Given the description of an element on the screen output the (x, y) to click on. 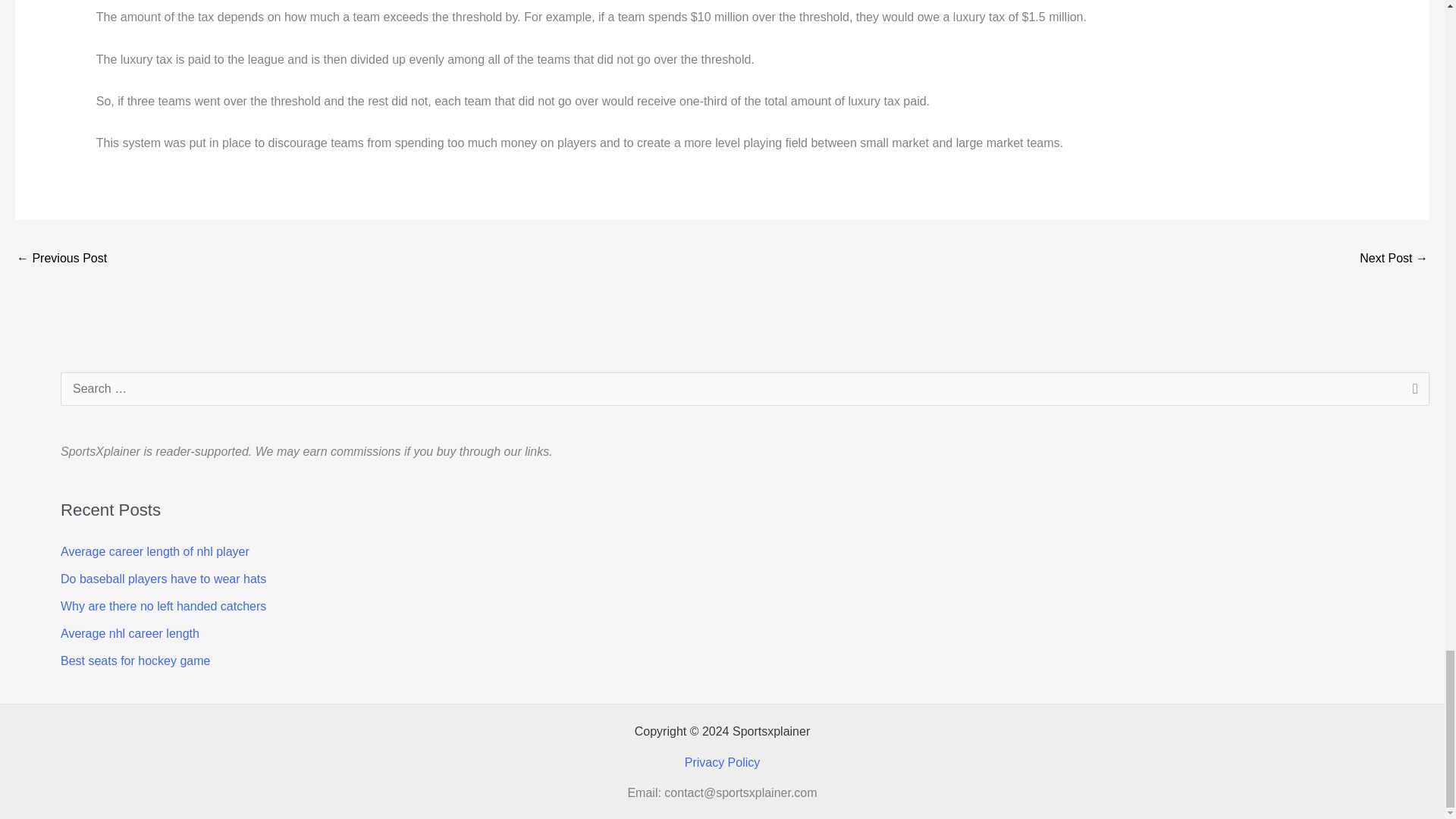
Do baseball players have to wear hats (163, 578)
Privacy Policy (722, 762)
Average nhl career length (130, 633)
Average career length of nhl player (154, 551)
Basketball Vs Volleyball - What Is The Difference? (1393, 259)
Why are there no left handed catchers (163, 605)
Best seats for hockey game (135, 660)
